Given the description of an element on the screen output the (x, y) to click on. 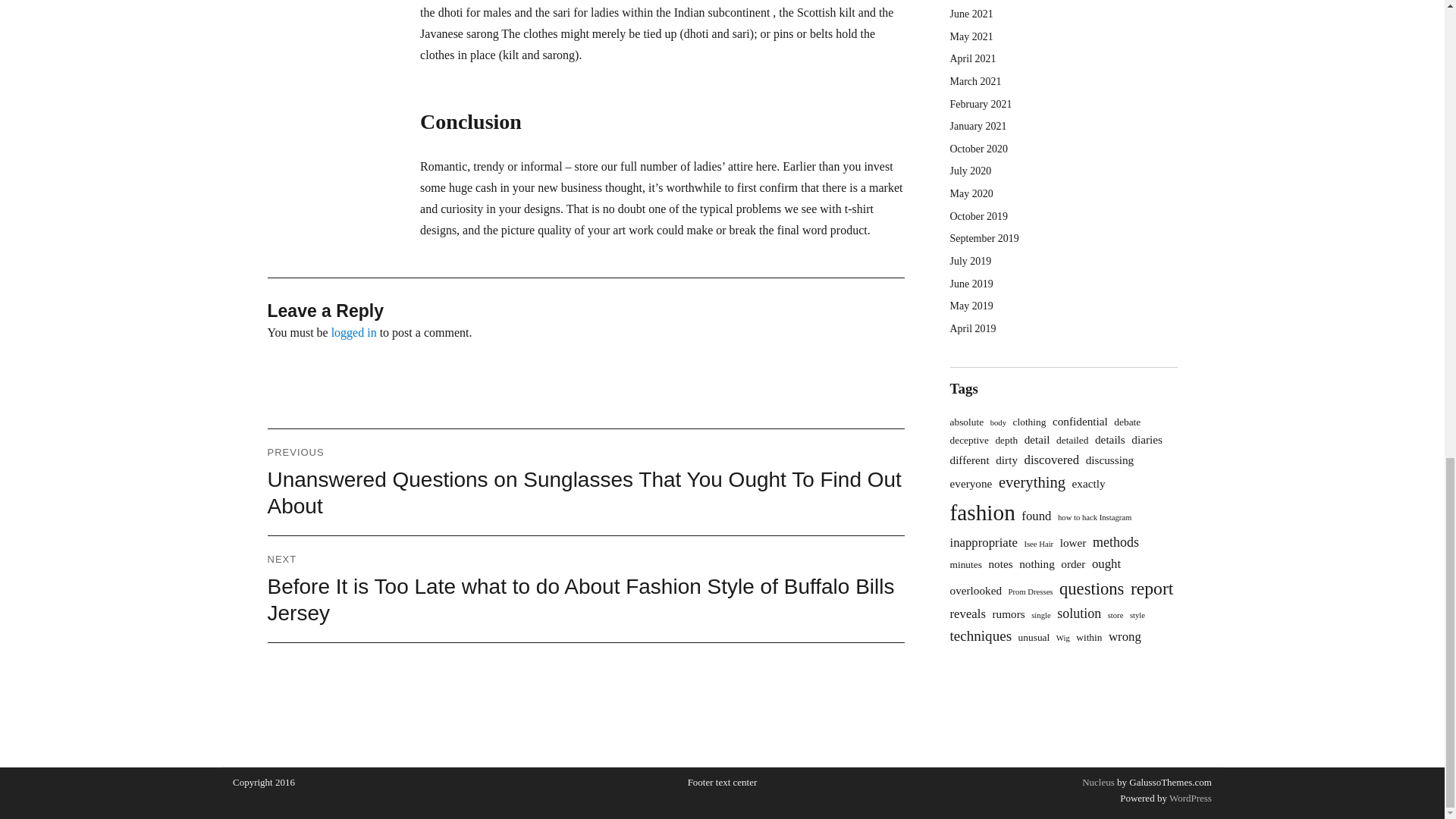
Semantic Personal Publishing Platform (1189, 797)
logged in (354, 332)
June 2021 (970, 13)
